Given the description of an element on the screen output the (x, y) to click on. 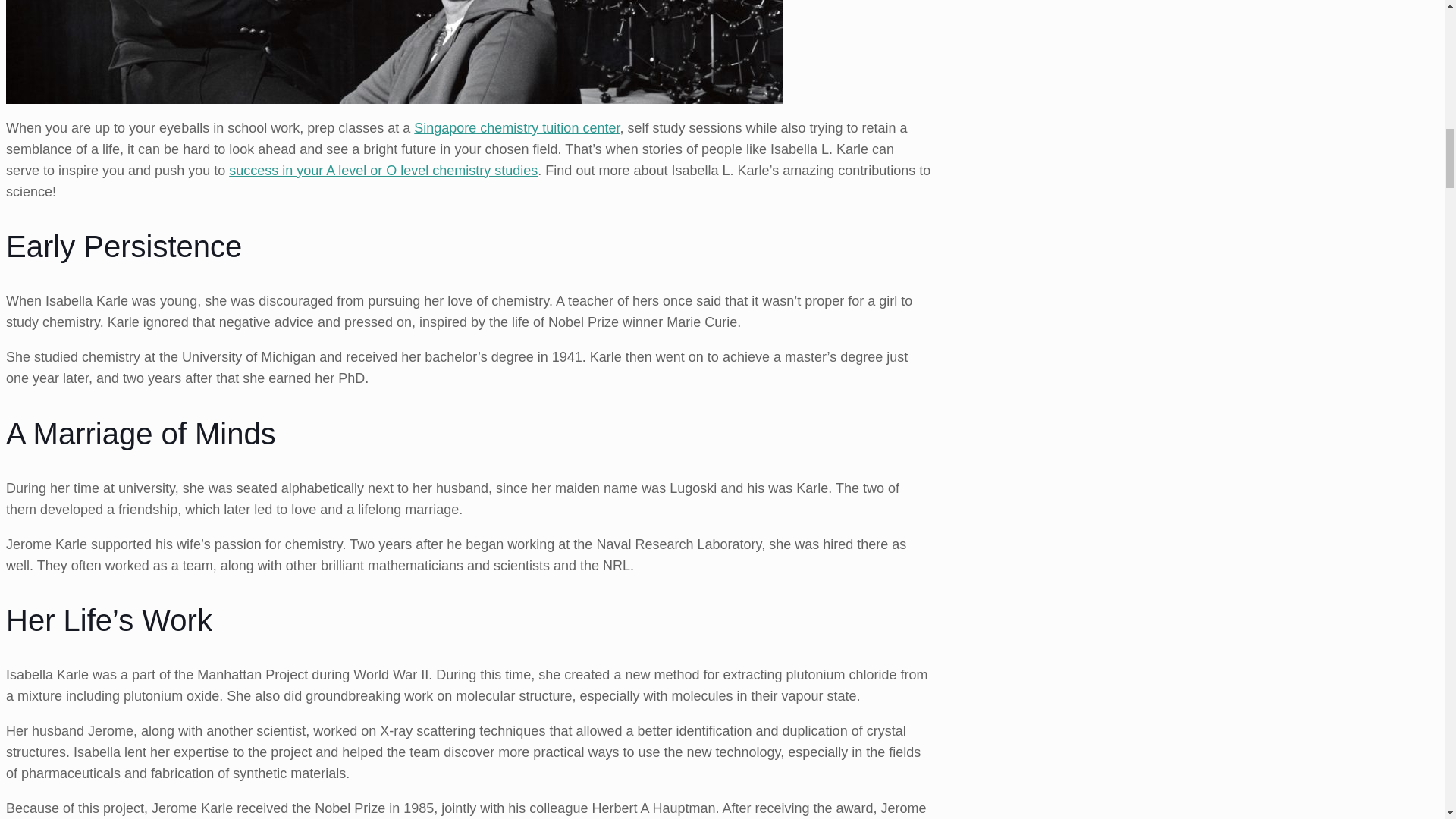
5 better ways to prepare for your A Level Chemistry Exams (382, 170)
Chemistry tuition Singapore (516, 127)
